Given the description of an element on the screen output the (x, y) to click on. 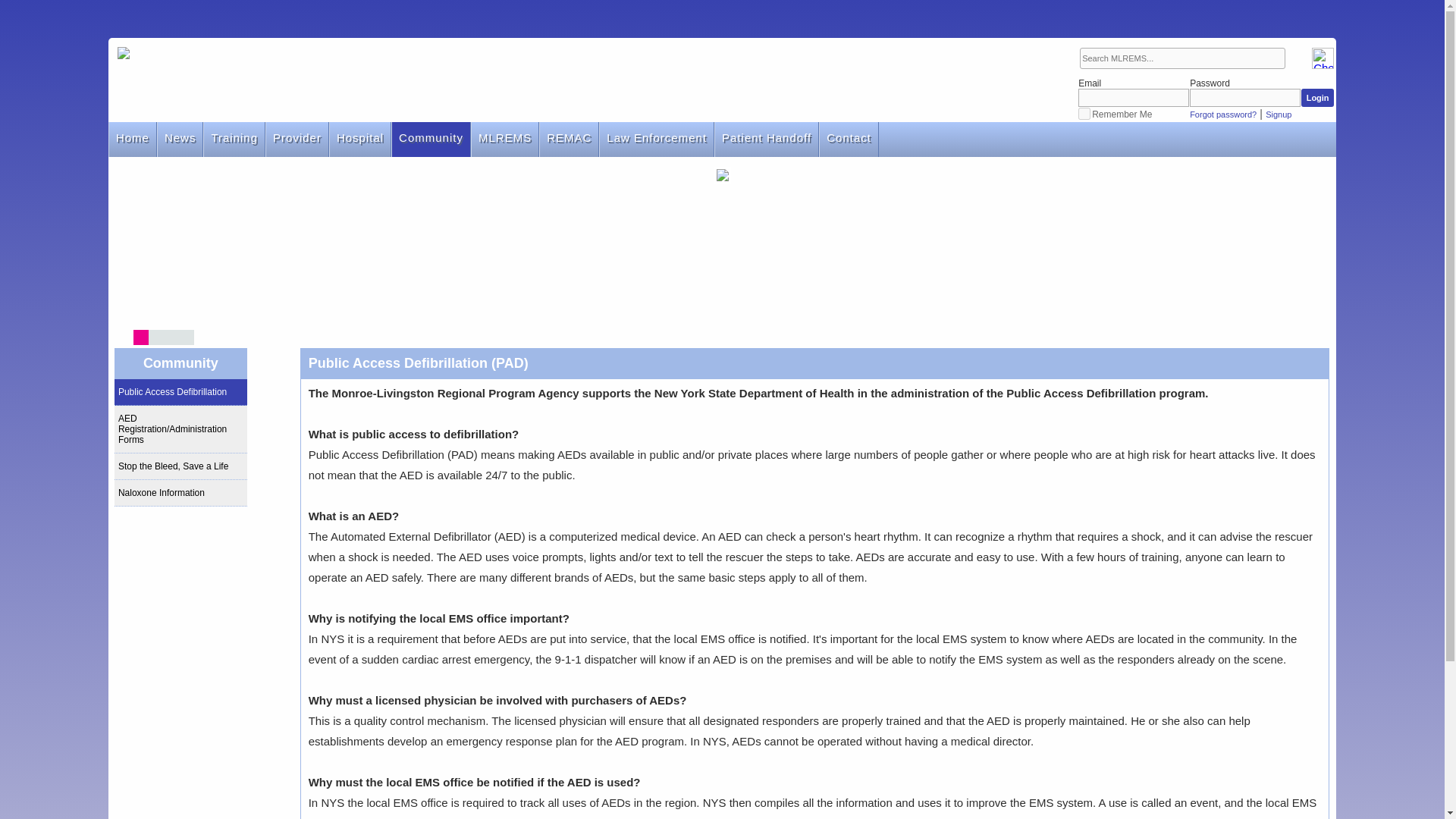
Click to search (1296, 57)
MLREMS (504, 139)
Public Access Defibrillation (181, 392)
Provider (297, 139)
Hospital (360, 139)
Community (430, 139)
on (1084, 113)
Naloxone Information (181, 492)
Training (233, 139)
Login (1317, 97)
Patient Handoff (766, 139)
2 (155, 337)
Law Enforcement (656, 139)
Contact (848, 139)
Forgot password? (1222, 113)
